Given the description of an element on the screen output the (x, y) to click on. 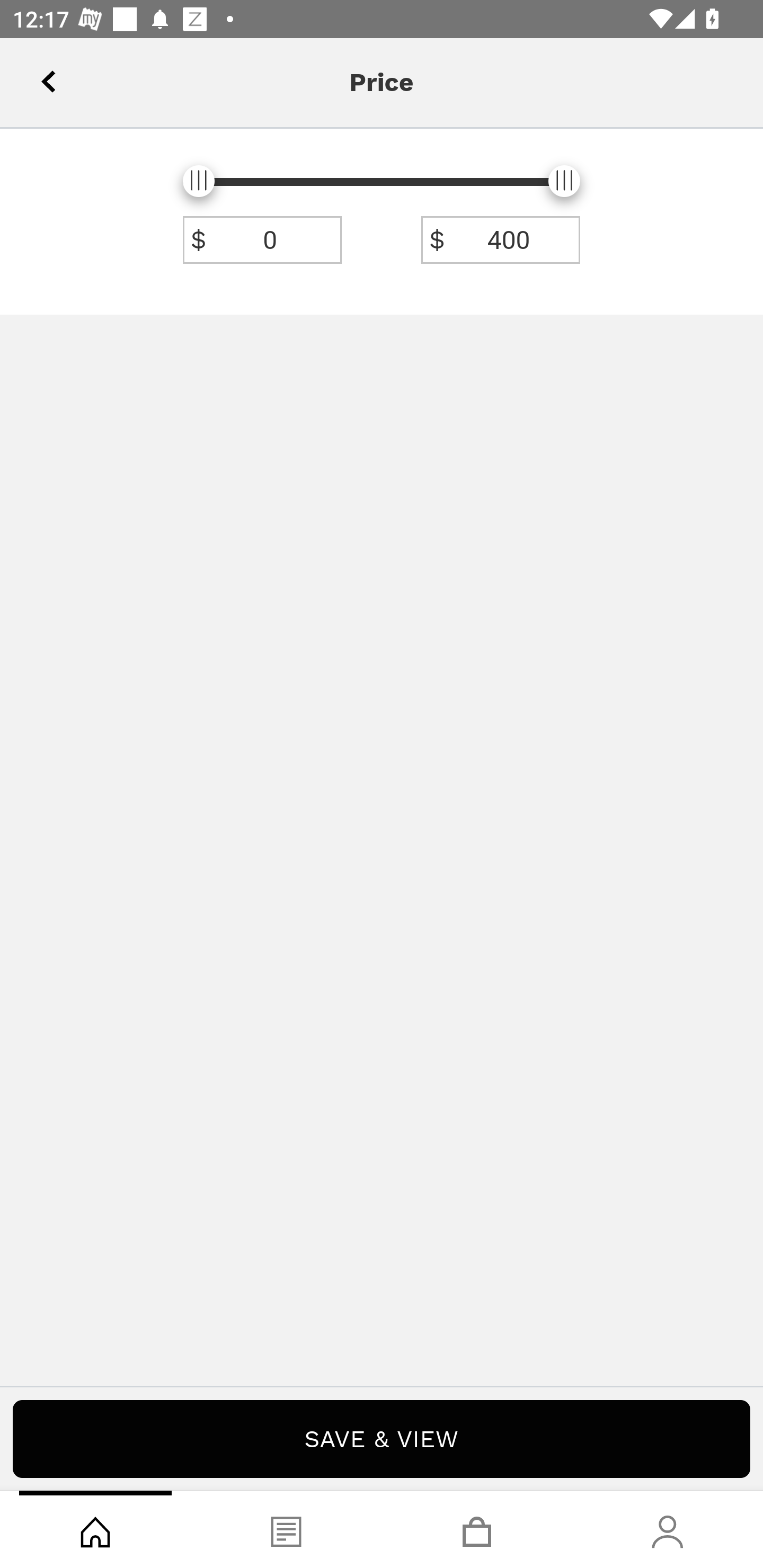
Open Menu (38, 75)
Lookfantastic USA (381, 75)
Shop, tab, 1 of 4 (95, 1529)
Blog, tab, 2 of 4 (285, 1529)
Basket, tab, 3 of 4 (476, 1529)
Account, tab, 4 of 4 (667, 1529)
